Given the description of an element on the screen output the (x, y) to click on. 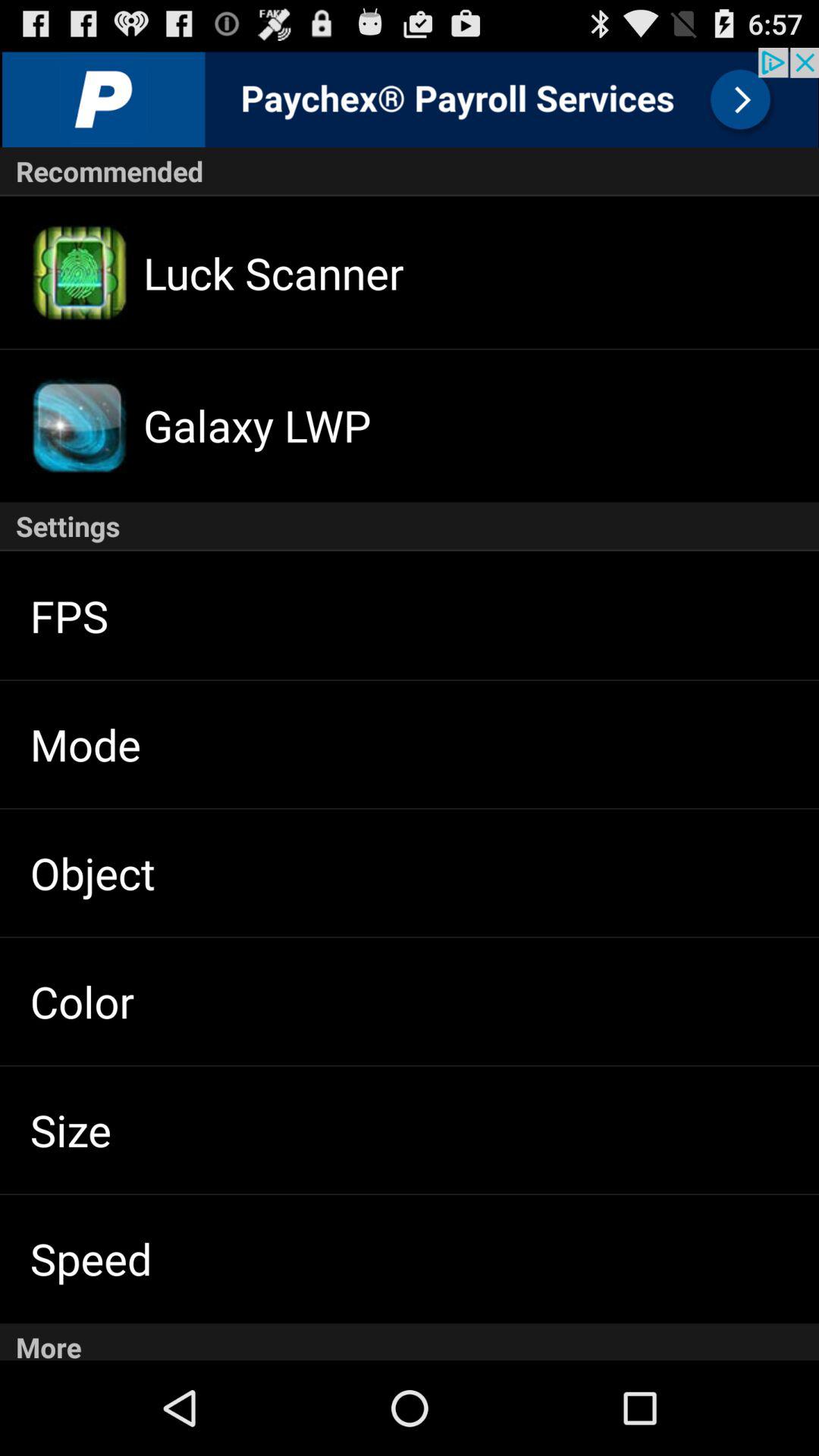
advertisement page (409, 97)
